Given the description of an element on the screen output the (x, y) to click on. 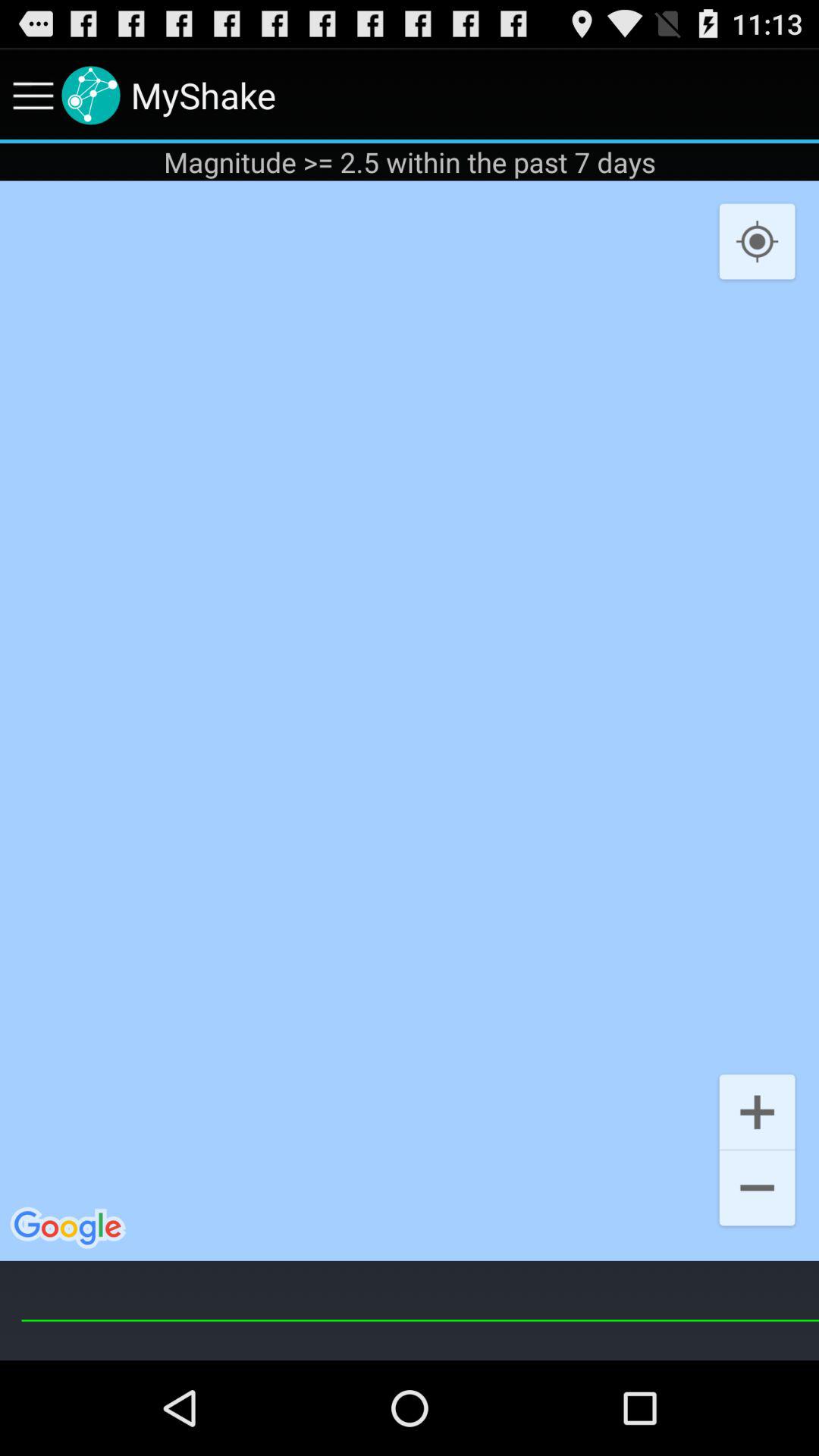
open item at the center (409, 720)
